Given the description of an element on the screen output the (x, y) to click on. 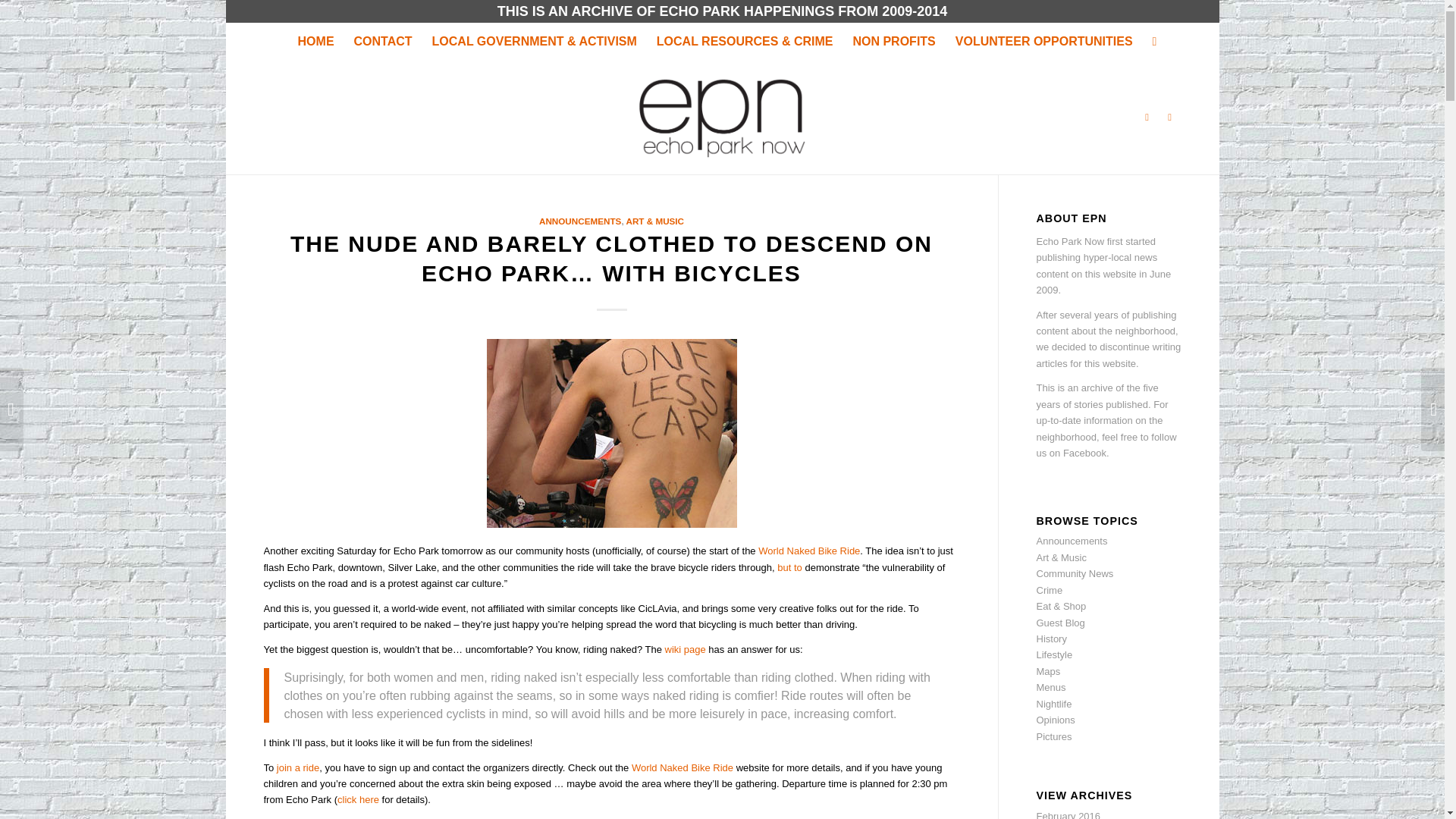
click here (357, 799)
HOME (315, 41)
join a ride (297, 767)
World Naked Bike Ride (809, 550)
but to (789, 567)
CONTACT (382, 41)
NON PROFITS (893, 41)
World Naked Bike Ride (682, 767)
wiki page (685, 649)
ANNOUNCEMENTS (579, 221)
